Given the description of an element on the screen output the (x, y) to click on. 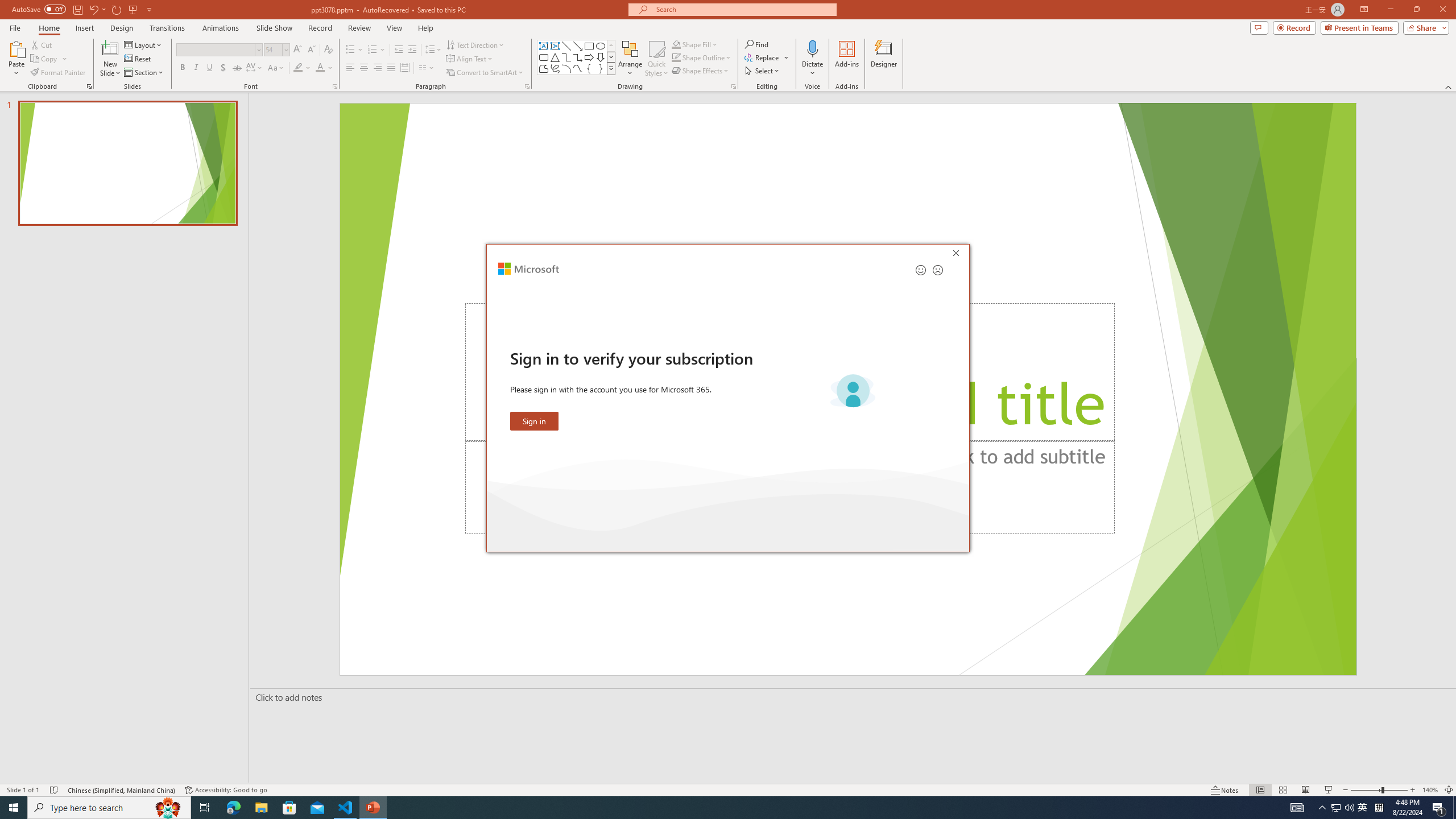
Zoom 140% (1430, 790)
